Given the description of an element on the screen output the (x, y) to click on. 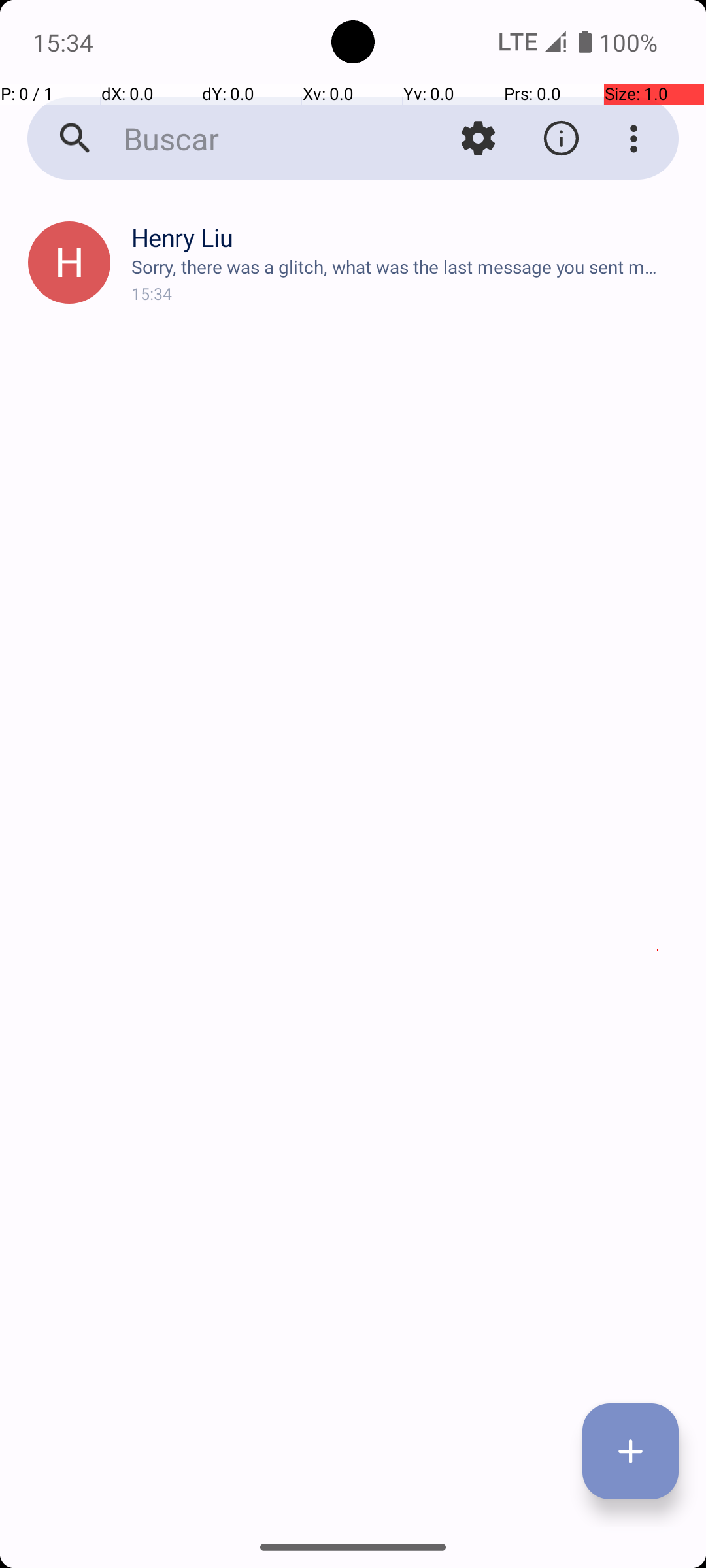
Acerca de Element type: android.widget.Button (560, 138)
Henry Liu Element type: android.widget.TextView (408, 237)
